Given the description of an element on the screen output the (x, y) to click on. 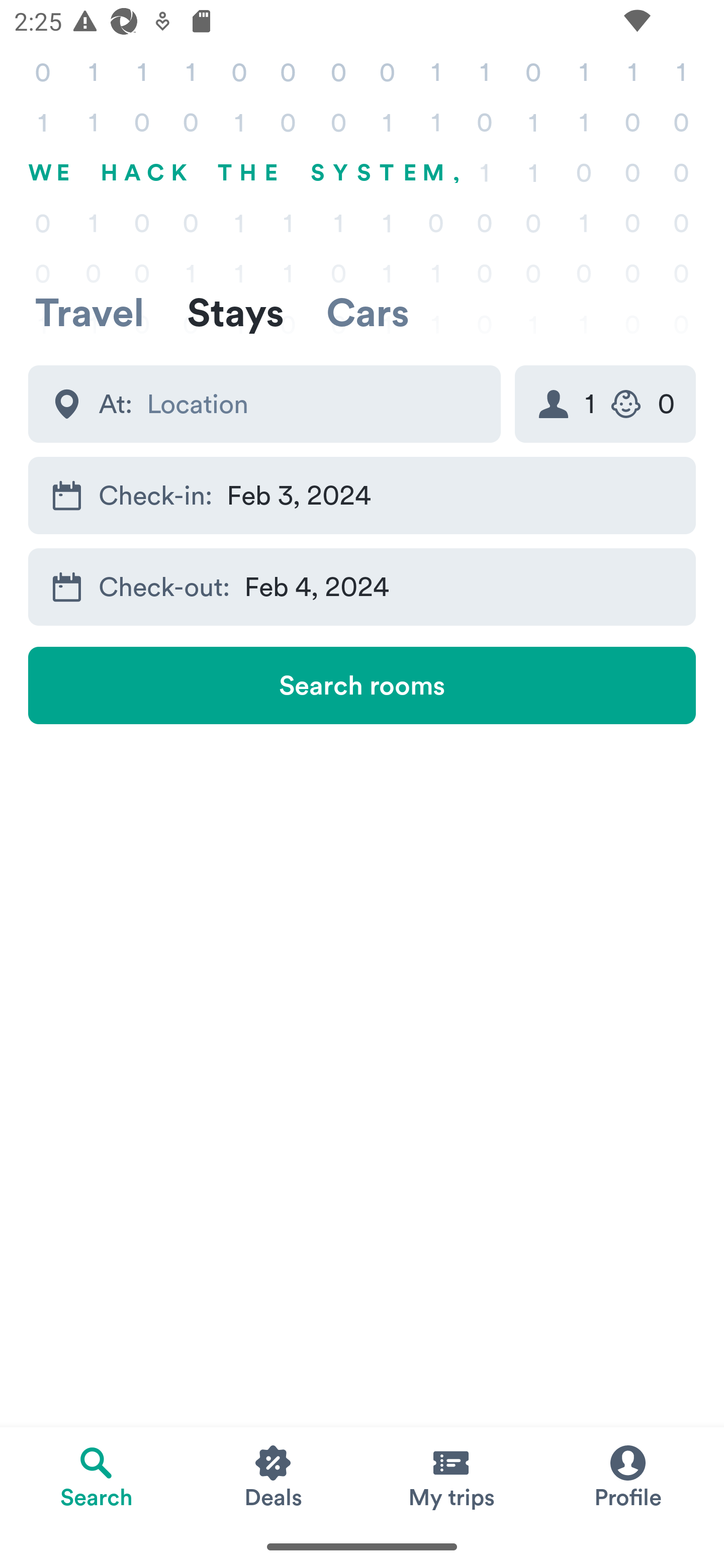
Travel (89, 311)
Stays (235, 311)
Cars (367, 311)
At: (264, 404)
1 0 (604, 404)
Check-in: Feb 3, 2024 (361, 495)
Check-out: Feb 4, 2024 (361, 586)
Search rooms (361, 684)
Deals (273, 1475)
My trips (450, 1475)
Profile (627, 1475)
